Given the description of an element on the screen output the (x, y) to click on. 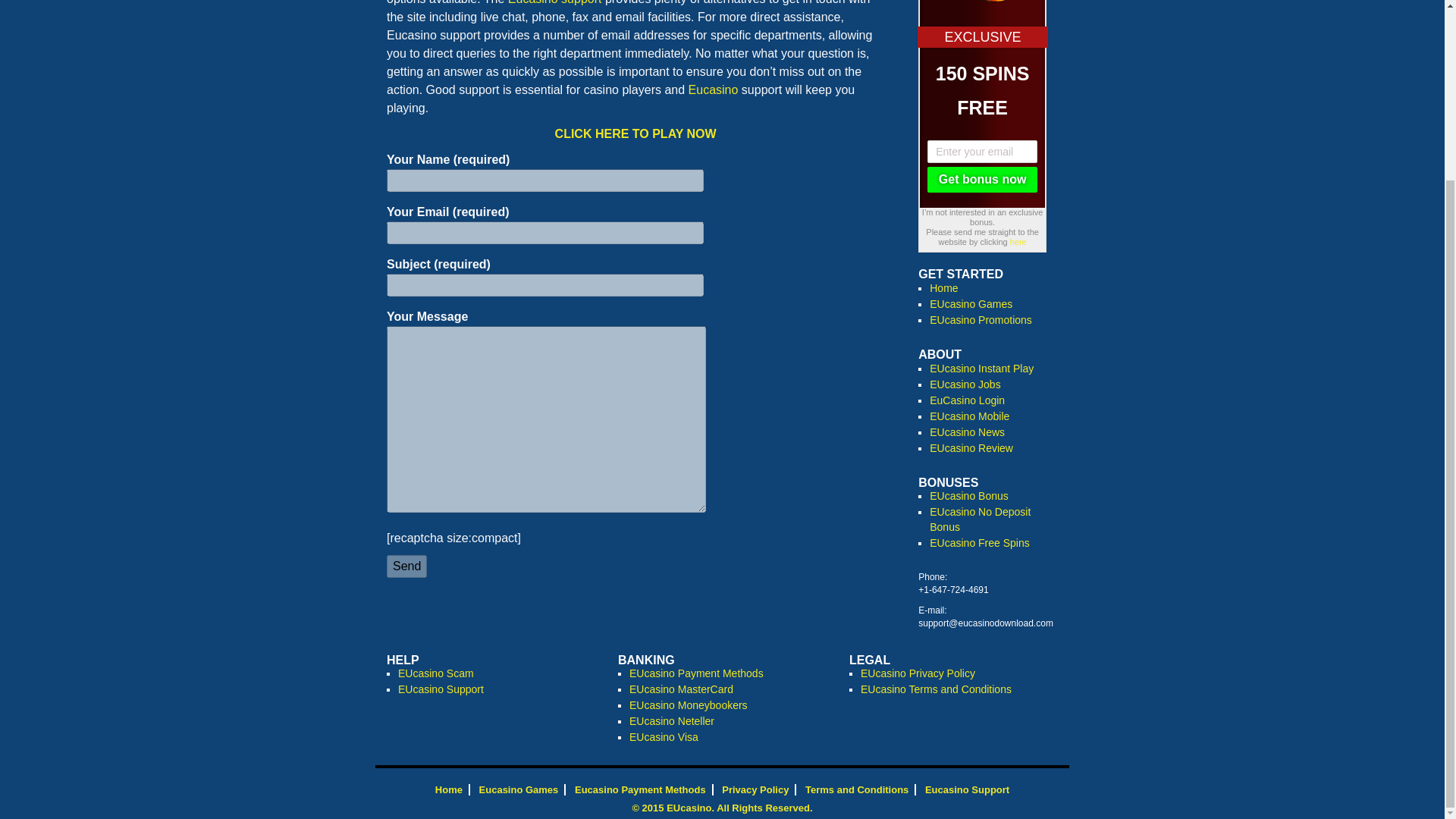
Get bonus now (981, 179)
EUcasino News (967, 431)
Eucasino support (555, 2)
EUcasino Promotions (981, 319)
EuCasino Login (967, 399)
EUcasino No Deposit Bonus (980, 519)
Home (944, 287)
EUcasino Mobile (969, 416)
CLICK HERE TO PLAY NOW (635, 133)
EUcasino Bonus (969, 495)
EUcasino Games (970, 304)
here (1018, 241)
EUcasino Instant Play (981, 368)
EUcasino Review (971, 448)
Eucasino (713, 89)
